Given the description of an element on the screen output the (x, y) to click on. 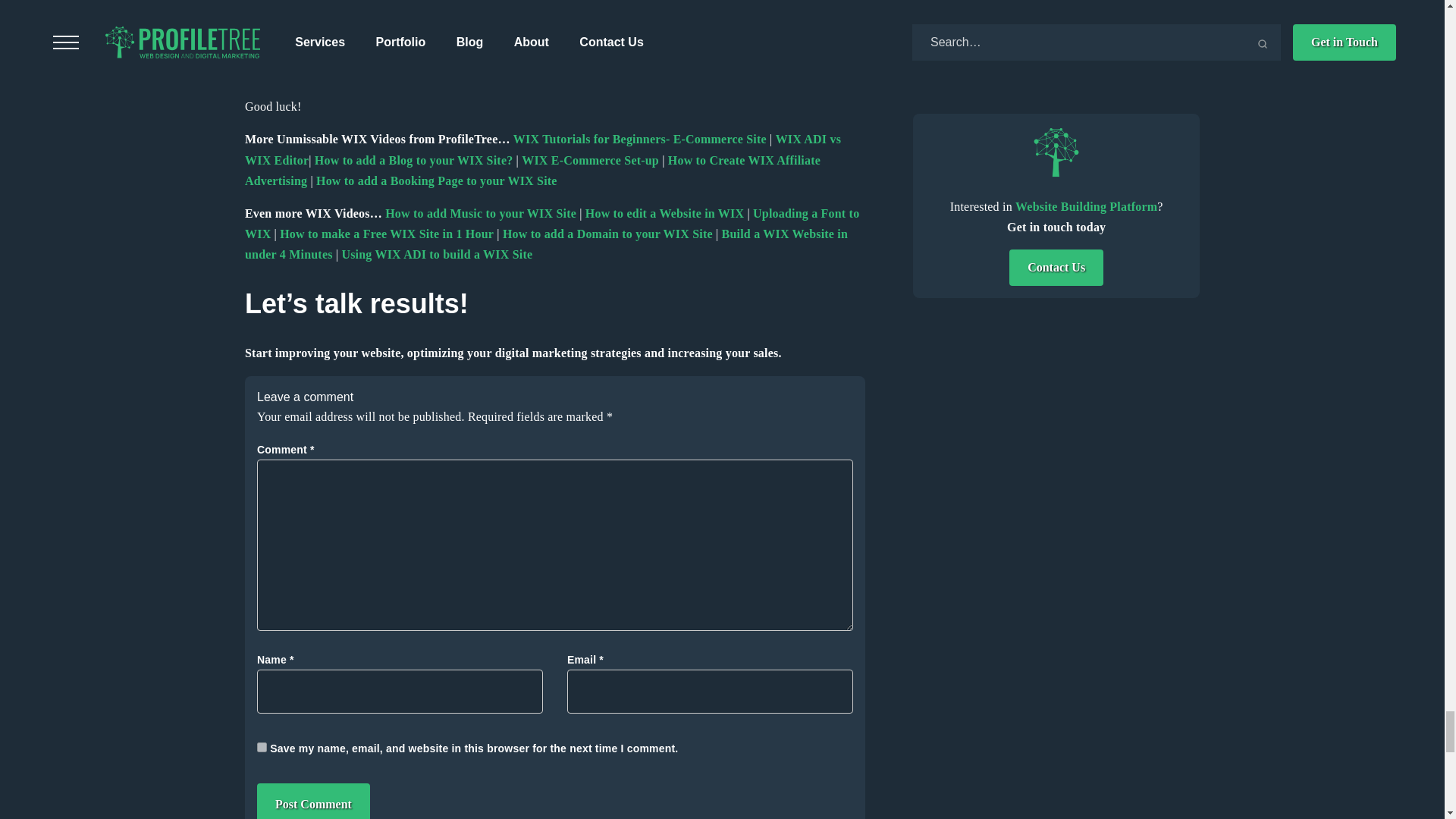
Post Comment (313, 800)
yes (261, 747)
